Given the description of an element on the screen output the (x, y) to click on. 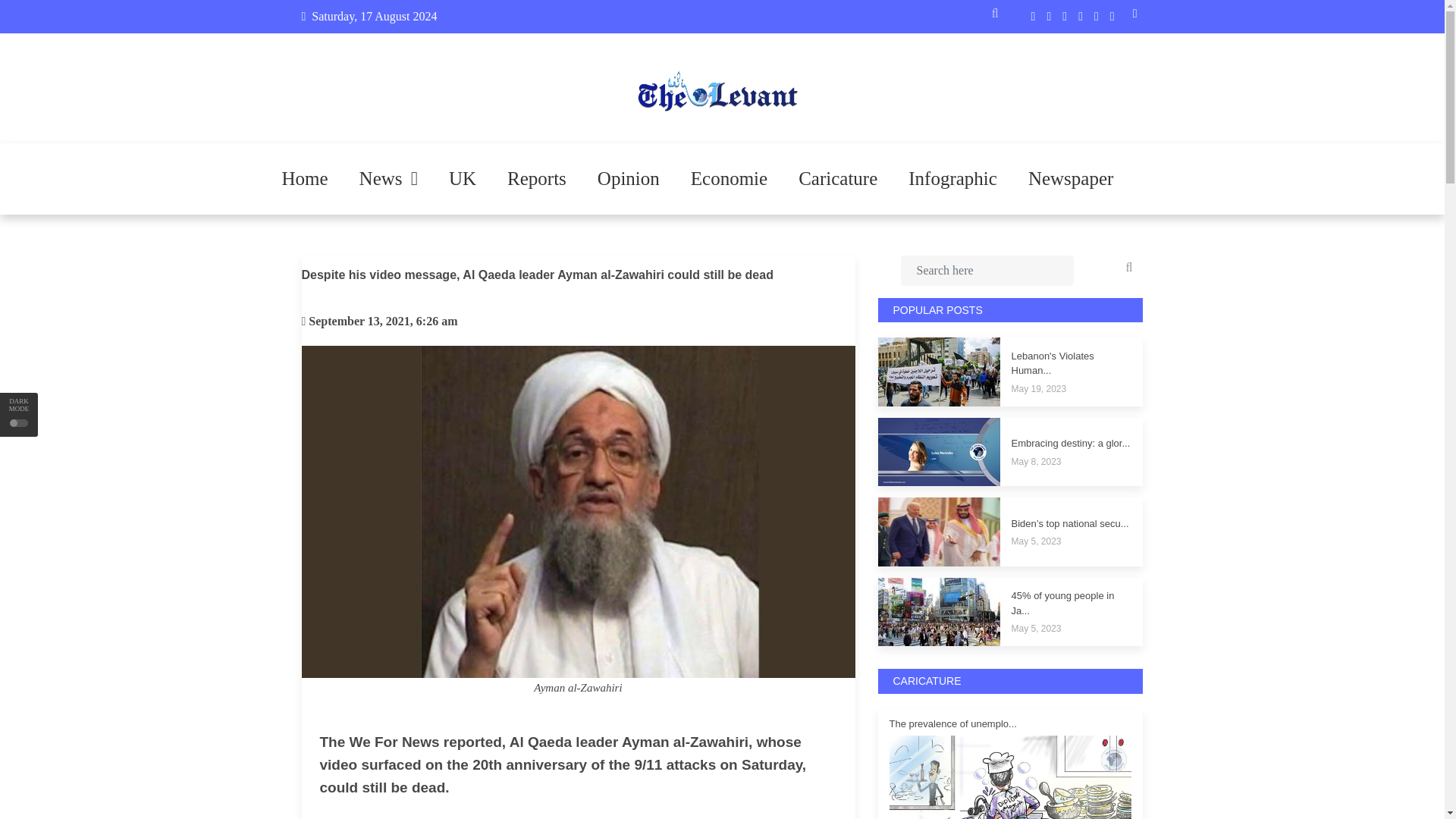
Reports (536, 178)
Caricature (837, 178)
Opinion (628, 178)
Home (304, 178)
September 13, 2021, 6:26 am (382, 320)
Infographic (952, 178)
UK (462, 178)
News (387, 178)
Newspaper (1070, 178)
Economie (729, 178)
